Given the description of an element on the screen output the (x, y) to click on. 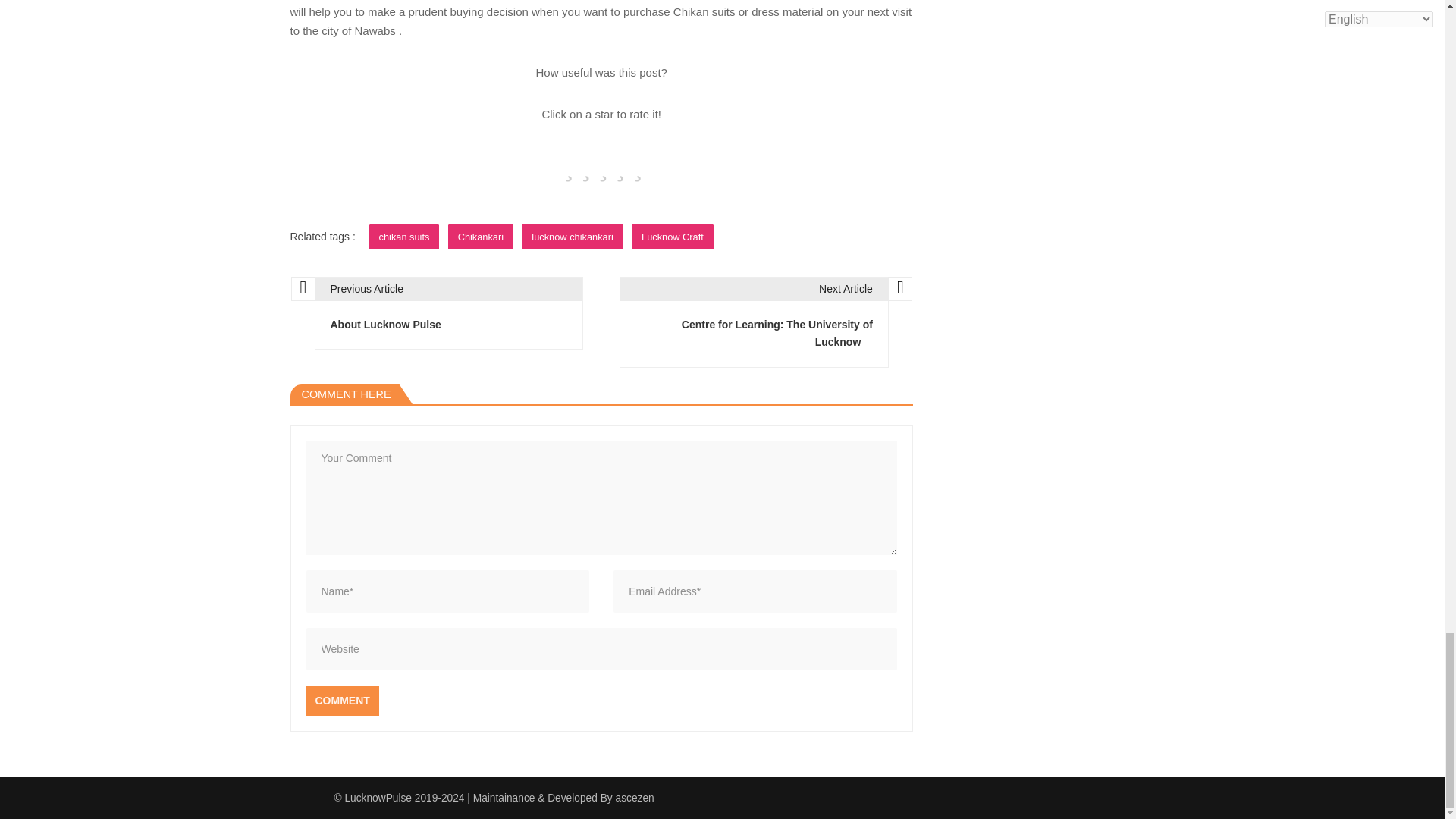
Comment (341, 700)
